Given the description of an element on the screen output the (x, y) to click on. 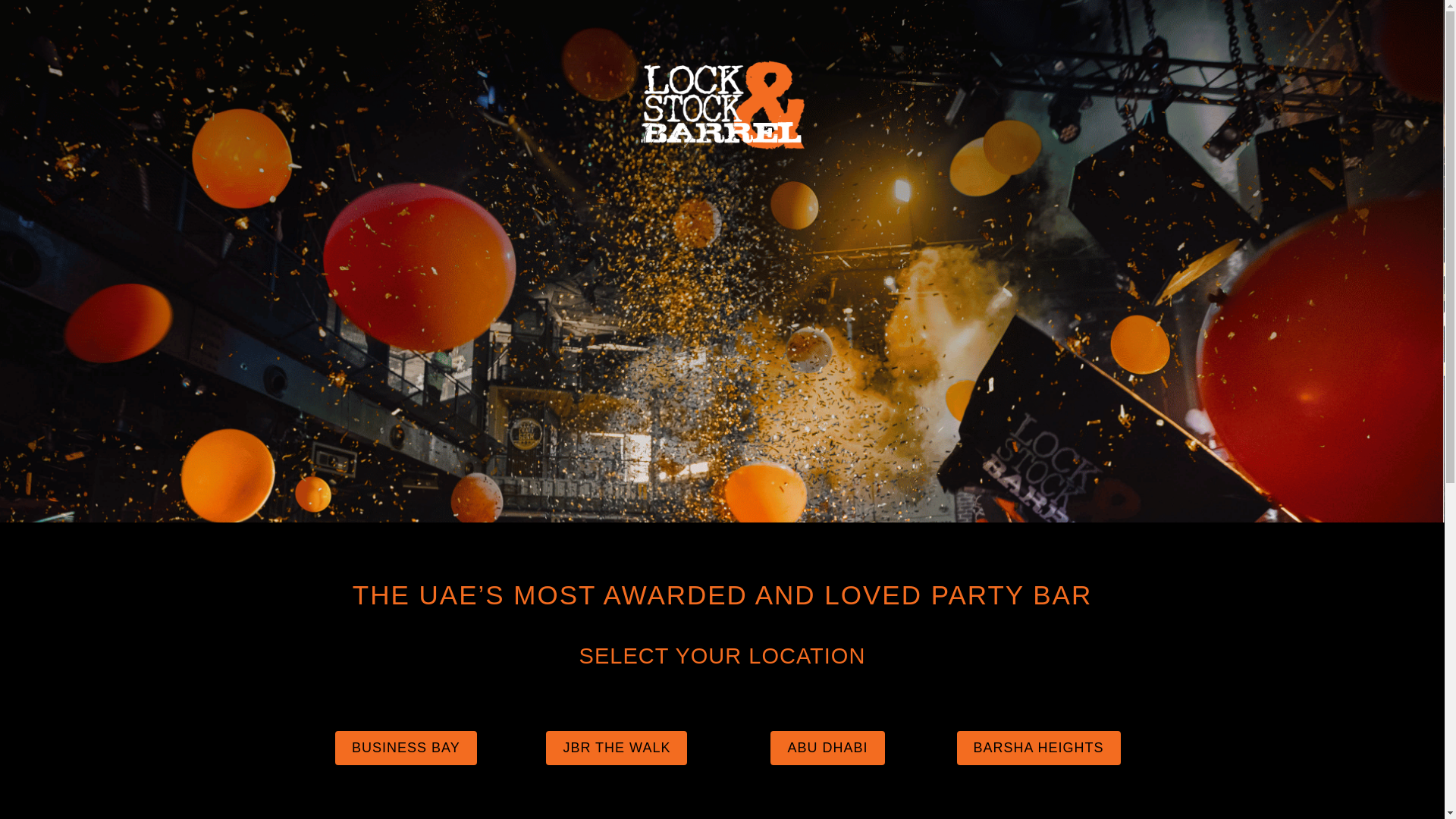
BUSINESS BAY (405, 747)
BARSHA HEIGHTS (1038, 747)
JBR THE WALK (616, 747)
ABU DHABI (826, 747)
